Given the description of an element on the screen output the (x, y) to click on. 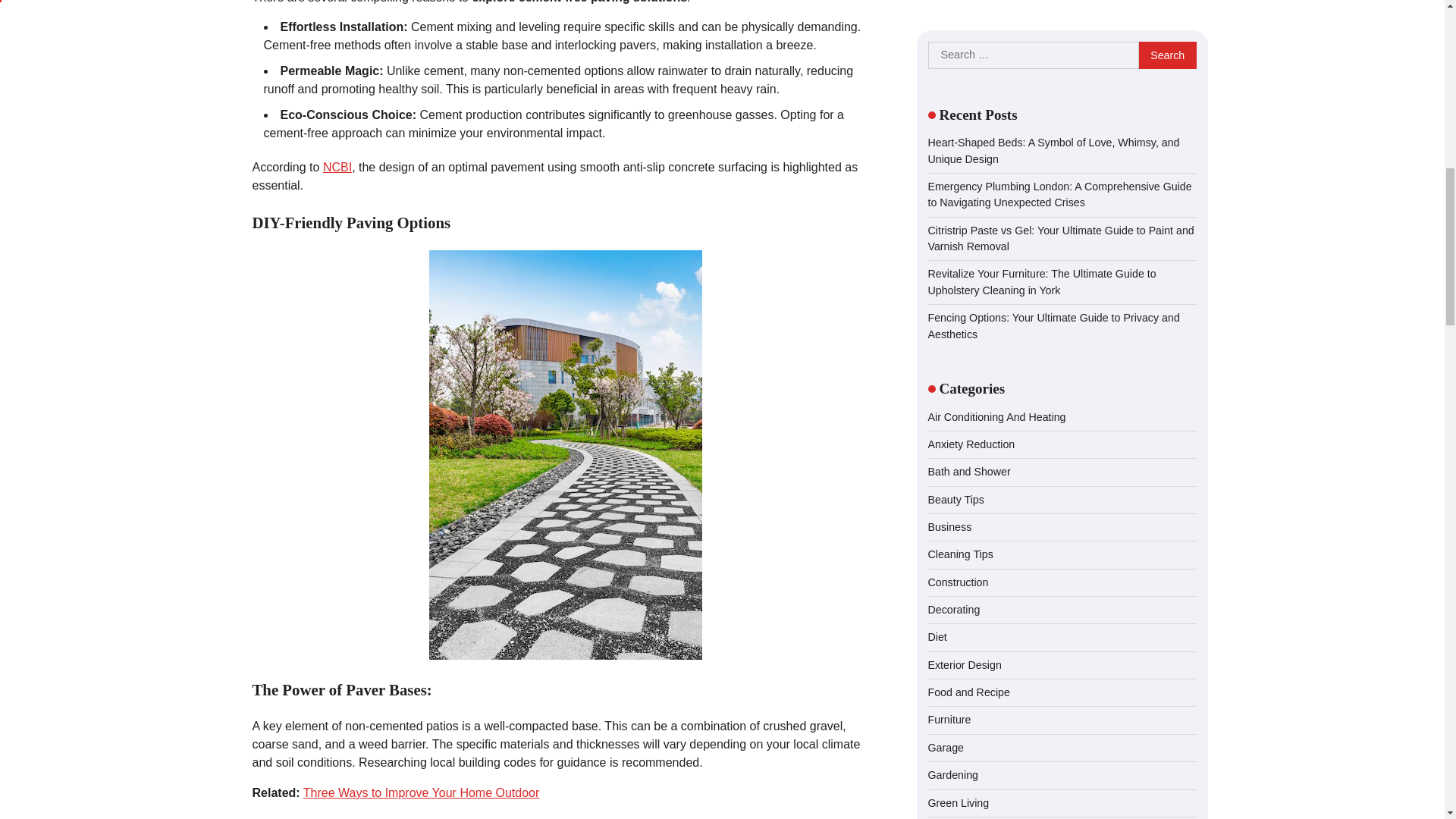
NCBI (337, 166)
Three Ways to Improve Your Home Outdoor (421, 792)
